Given the description of an element on the screen output the (x, y) to click on. 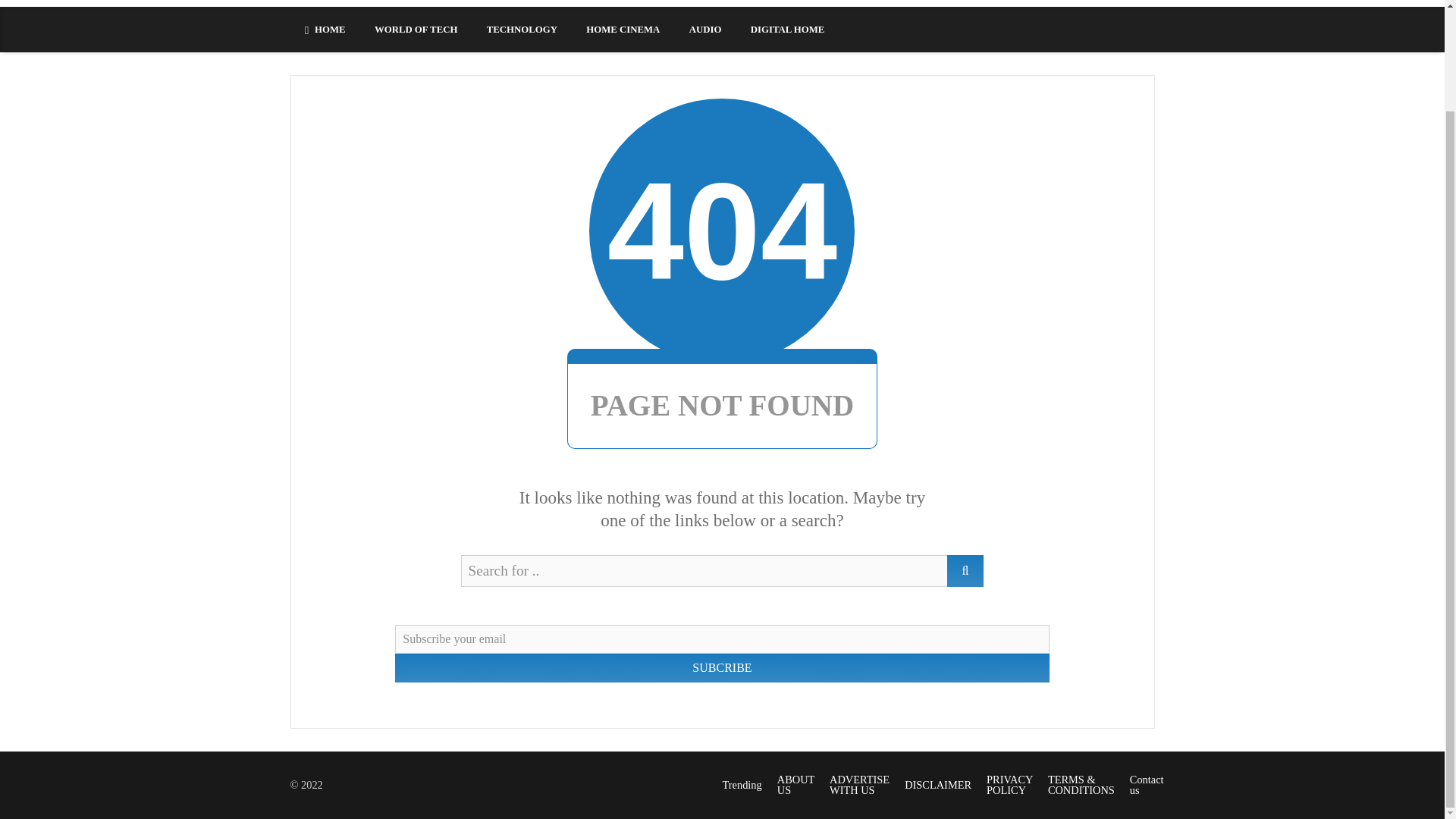
Trending (741, 784)
PRIVACY POLICY (1009, 784)
SUBCRIBE (721, 667)
Contact us (1146, 784)
HOME CINEMA (623, 29)
AUDIO (705, 29)
ADVERTISE WITH US (859, 784)
TECHNOLOGY (521, 29)
ABOUT US (795, 784)
DISCLAIMER (937, 784)
